Given the description of an element on the screen output the (x, y) to click on. 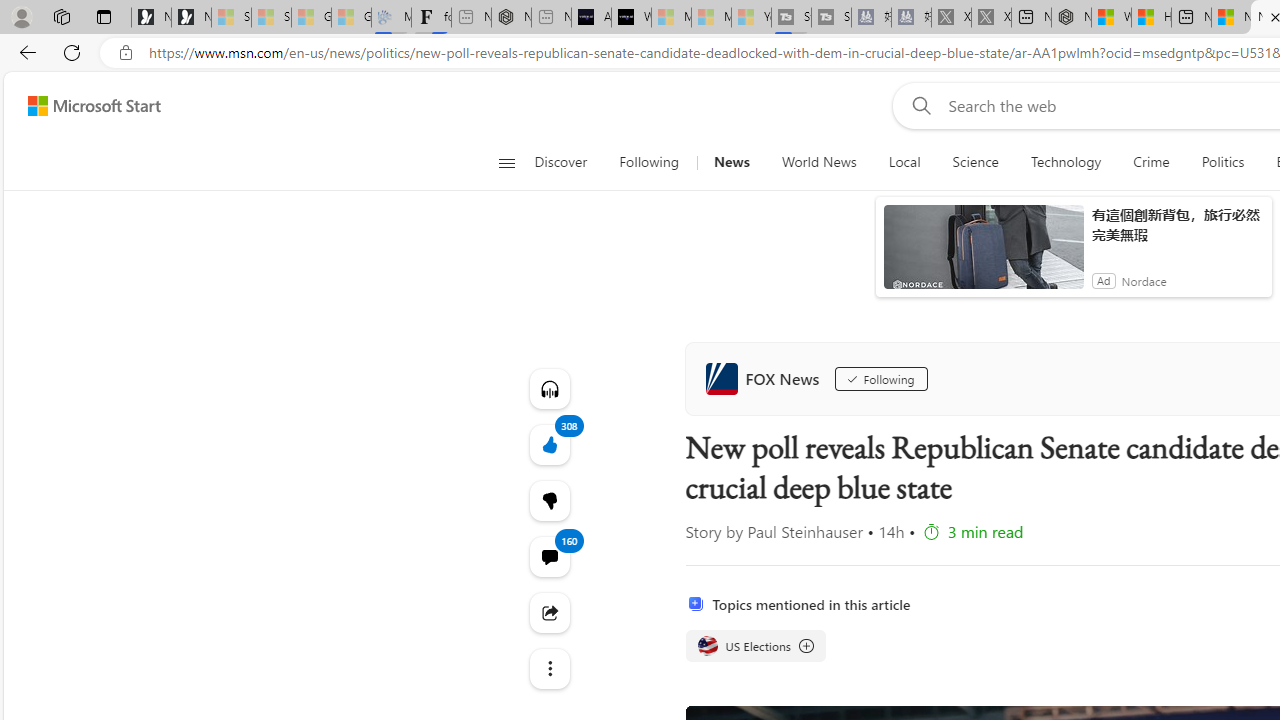
Local (903, 162)
Skip to footer (82, 105)
Local (904, 162)
Nordace - My Account (1071, 17)
More like this308Fewer like thisView comments (548, 500)
AI Voice Changer for PC and Mac - Voice.ai (591, 17)
US Elections (707, 645)
Huge shark washes ashore at New York City beach | Watch (1151, 17)
Nordace - #1 Japanese Best-Seller - Siena Smart Backpack (511, 17)
